Given the description of an element on the screen output the (x, y) to click on. 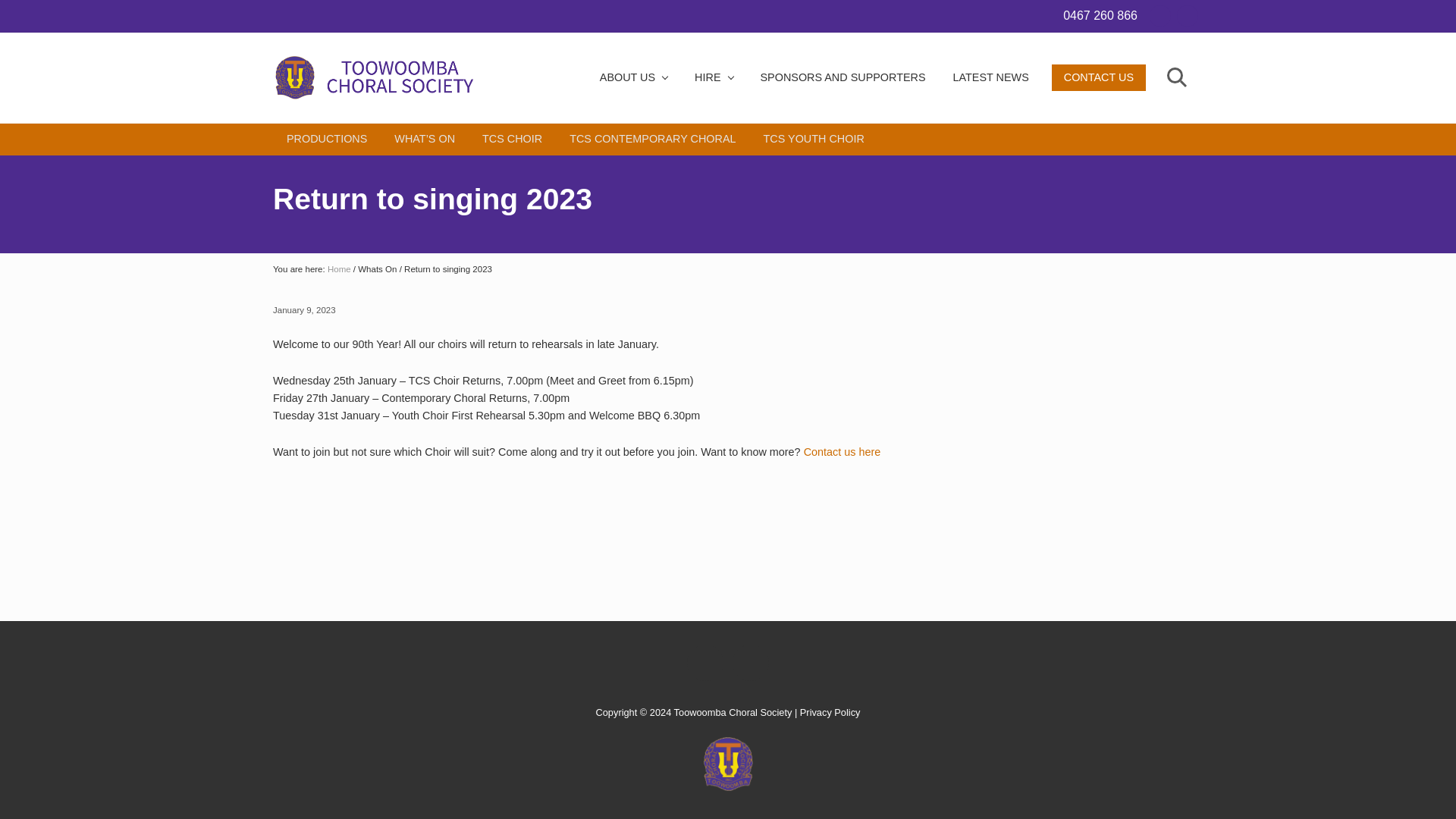
CONTACT US (1098, 77)
LATEST NEWS (990, 77)
Facebook (1160, 15)
ABOUT US (633, 77)
Search (1174, 77)
HIRE (713, 77)
Instagram (1187, 15)
Facebook (1160, 15)
SPONSORS AND SUPPORTERS (842, 77)
Instagram (1186, 15)
